Given the description of an element on the screen output the (x, y) to click on. 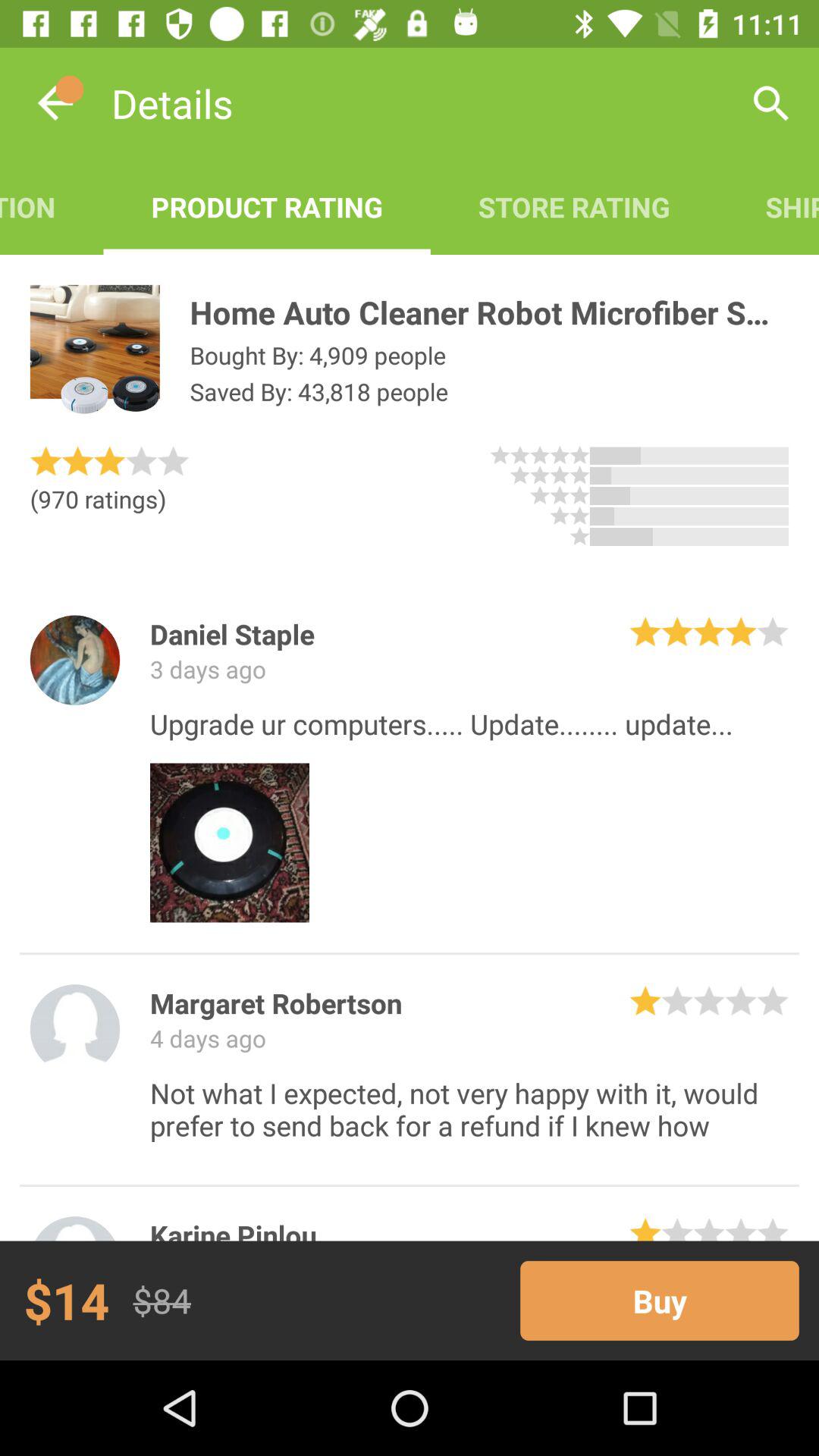
turn off the app to the right of the store rating item (771, 103)
